Given the description of an element on the screen output the (x, y) to click on. 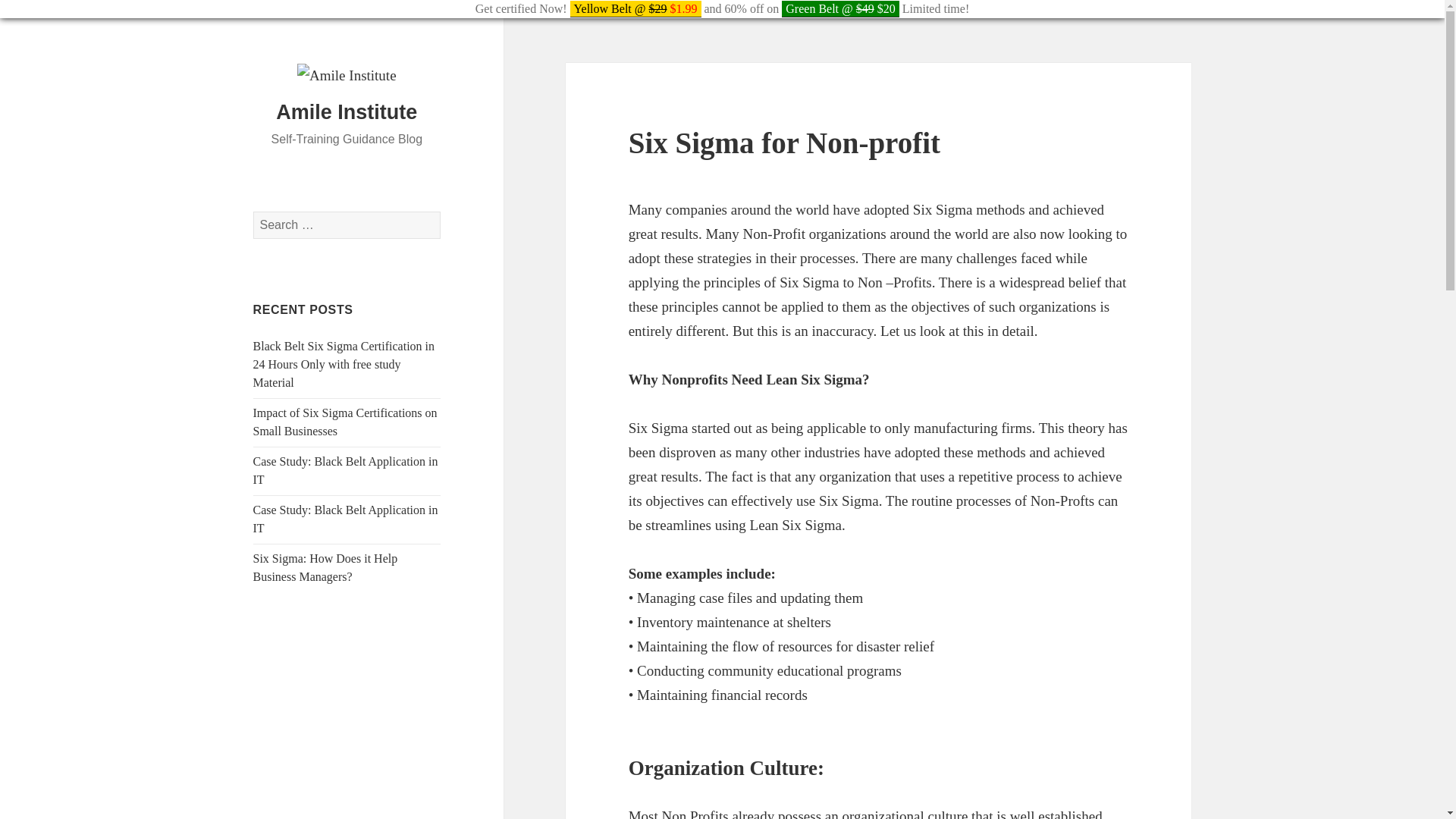
Six Sigma: How Does it Help Business Managers? (325, 567)
Case Study: Black Belt Application in IT (345, 518)
Case Study: Black Belt Application in IT (345, 470)
Amile Institute (346, 111)
Impact of Six Sigma Certifications on Small Businesses (345, 421)
